Given the description of an element on the screen output the (x, y) to click on. 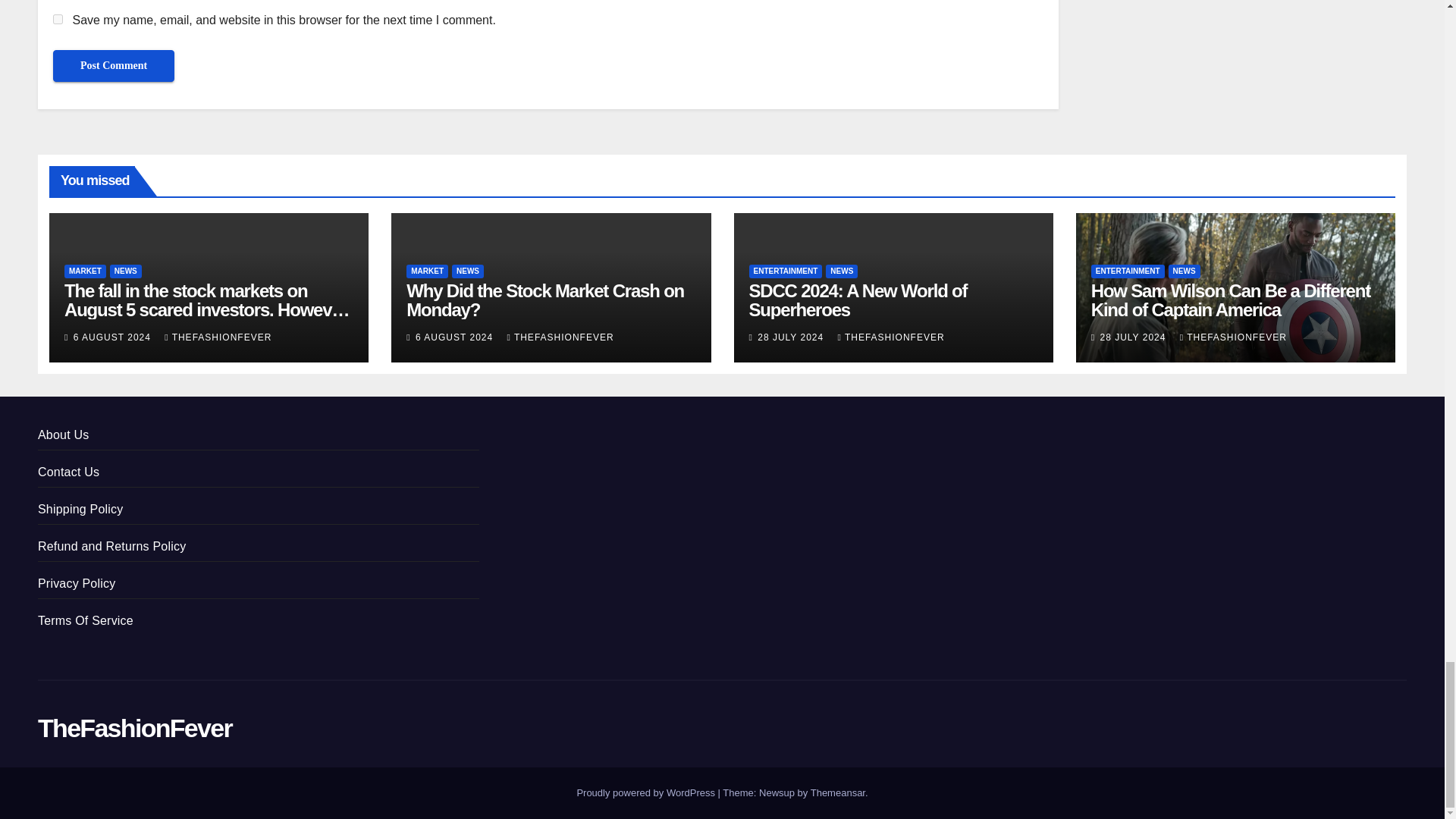
Post Comment (113, 65)
yes (57, 19)
